Given the description of an element on the screen output the (x, y) to click on. 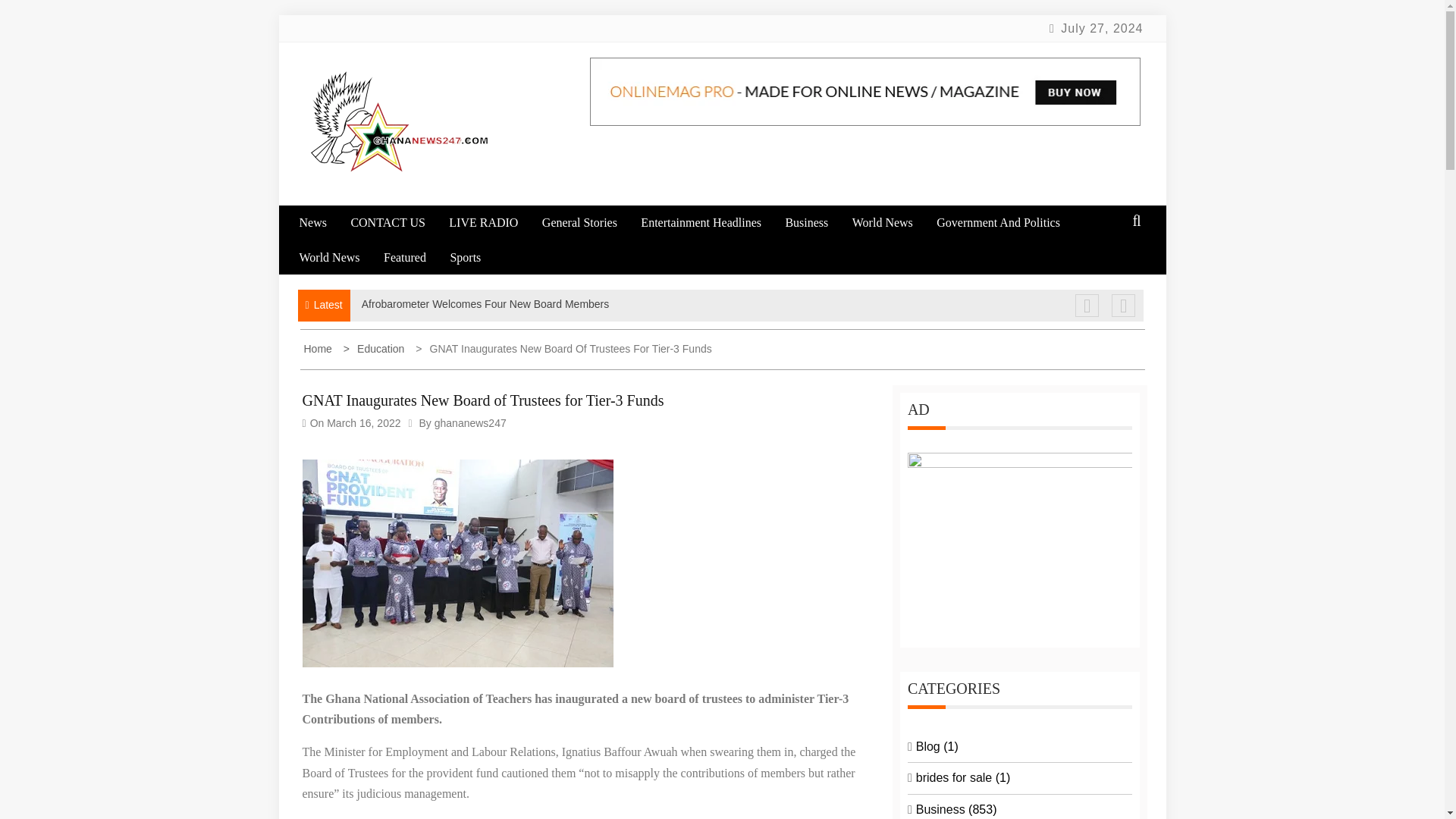
LIVE RADIO (493, 222)
General Stories (589, 222)
Sports (474, 257)
ghananews247 (469, 422)
Business (816, 222)
Education (375, 348)
News (322, 222)
Entertainment Headlines (710, 222)
Featured (415, 257)
CONTACT US (397, 222)
World News (892, 222)
Afrobarometer Welcomes Four New Board Members (485, 304)
March 16, 2022 (363, 422)
Ghananews247 (413, 204)
